Given the description of an element on the screen output the (x, y) to click on. 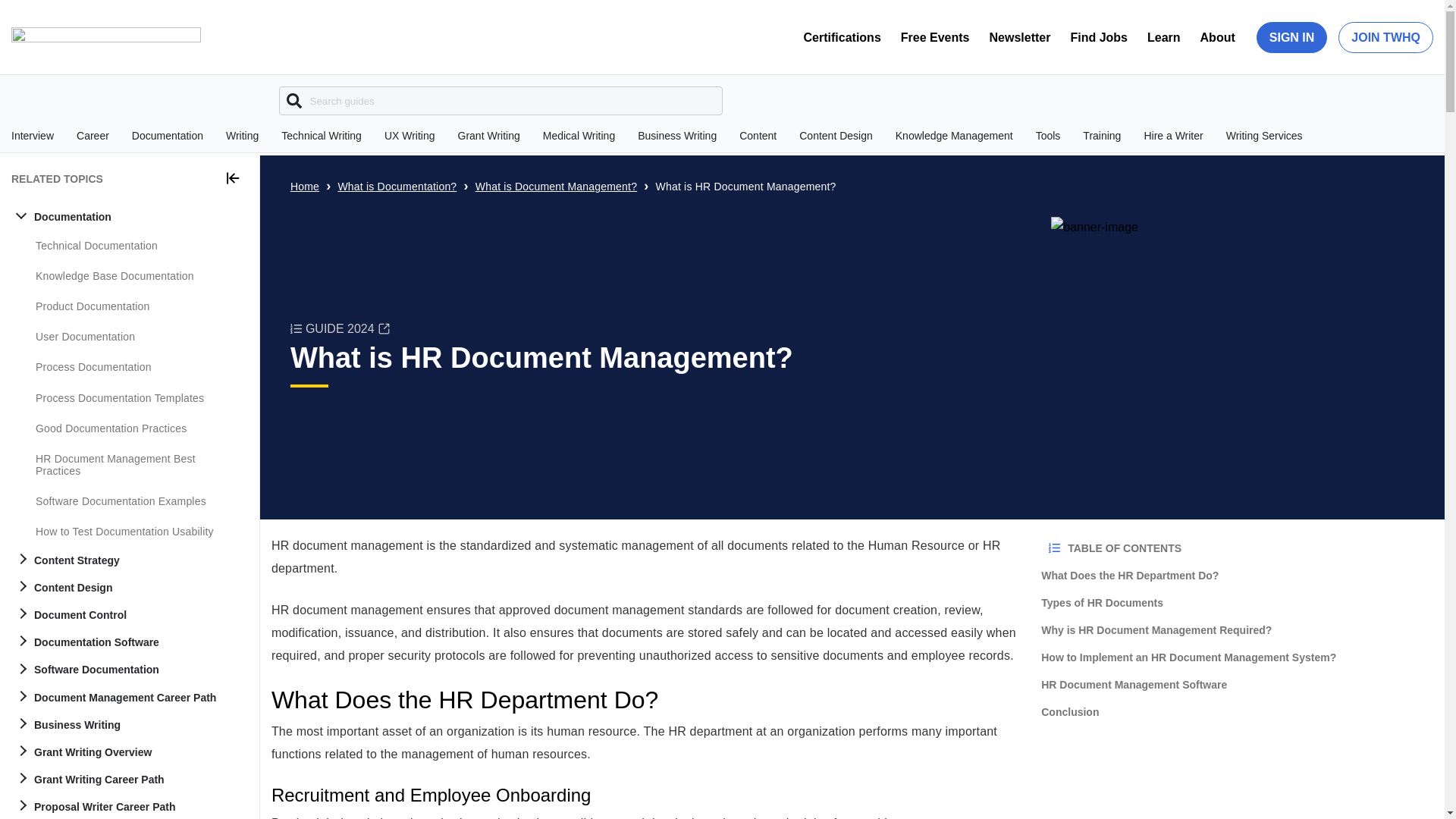
Learn (1163, 37)
Content (757, 135)
Business Writing (676, 135)
Conclusion (1236, 711)
How to Implement an HR Document Management System? (1236, 657)
About (1217, 37)
Interview (32, 135)
HR Document Management Software (1236, 684)
Writing (242, 135)
Grant Writing (488, 135)
